Given the description of an element on the screen output the (x, y) to click on. 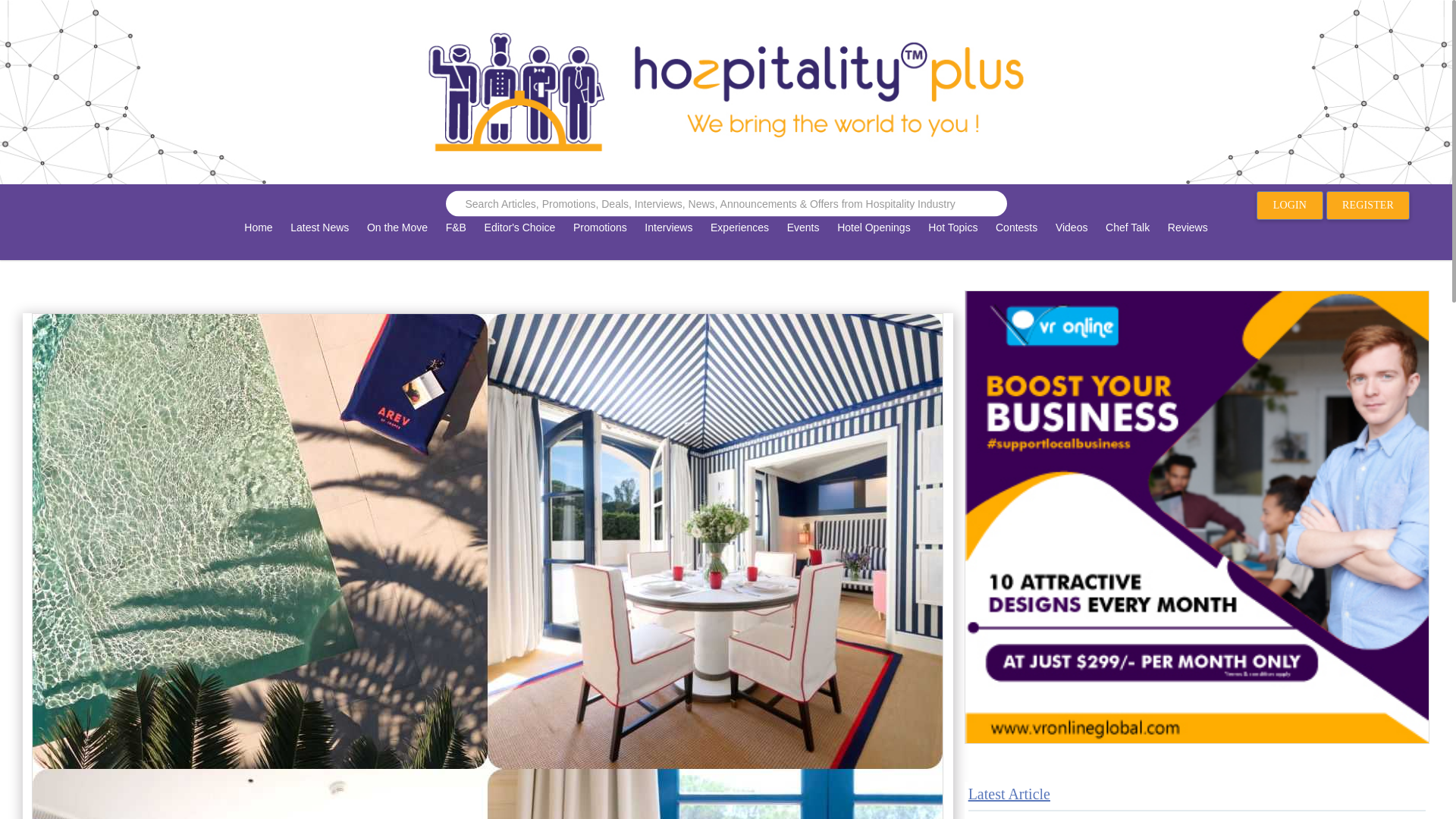
Hot Topics (952, 238)
Interviews (668, 238)
Events (802, 238)
Chef Talk (1127, 238)
Hotel Openings (873, 238)
LOGIN (1289, 205)
On the Move (397, 238)
Reviews (1187, 238)
Home (257, 238)
REGISTER (1367, 205)
